Given the description of an element on the screen output the (x, y) to click on. 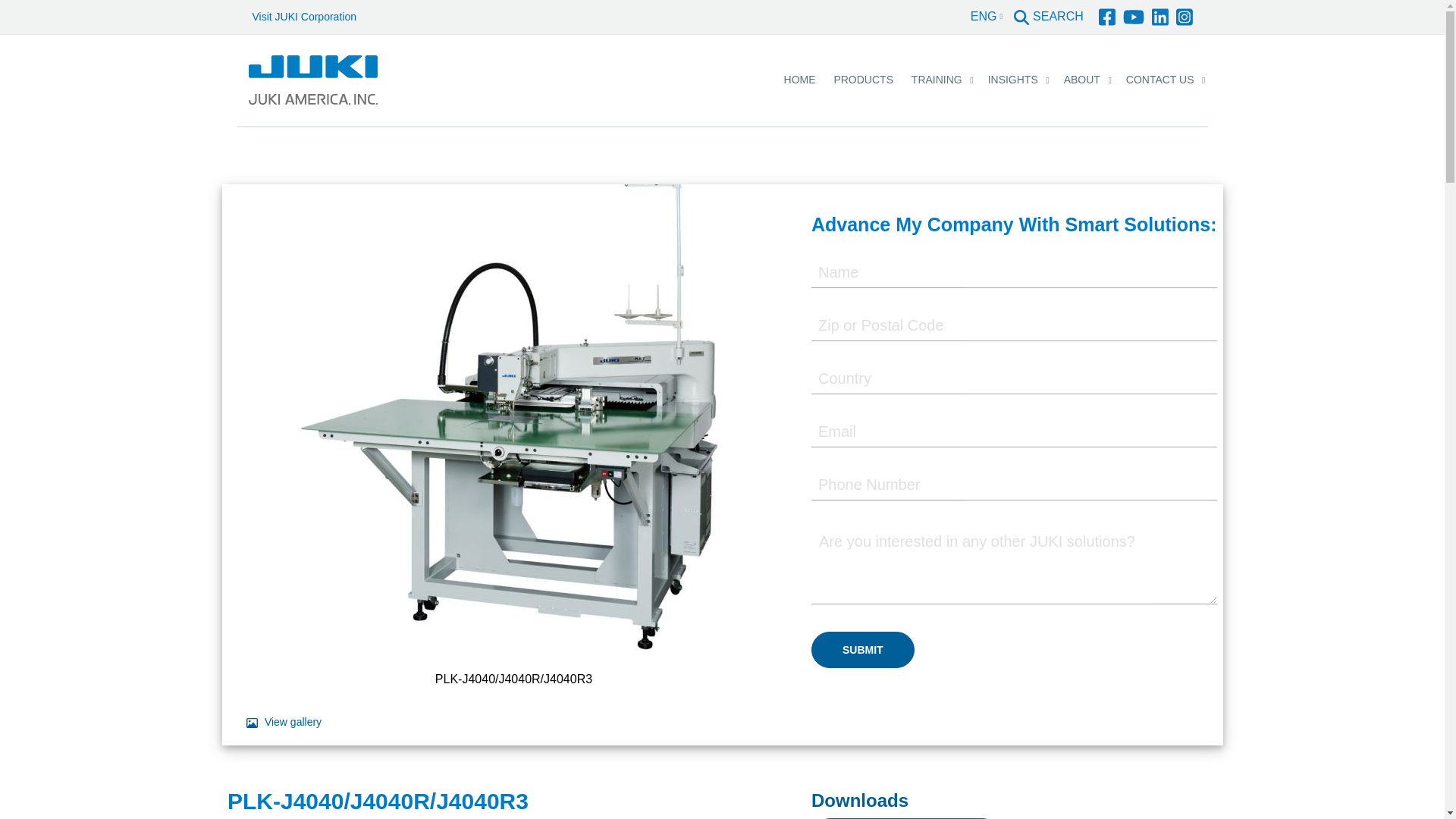
TRAINING (936, 79)
CONTACT US (1160, 79)
Email (1013, 431)
Zip or Postal Code (1013, 326)
View gallery (283, 721)
HOME (800, 79)
Visit JUKI Corporation (303, 16)
Country (1013, 378)
ABOUT (1082, 79)
